Given the description of an element on the screen output the (x, y) to click on. 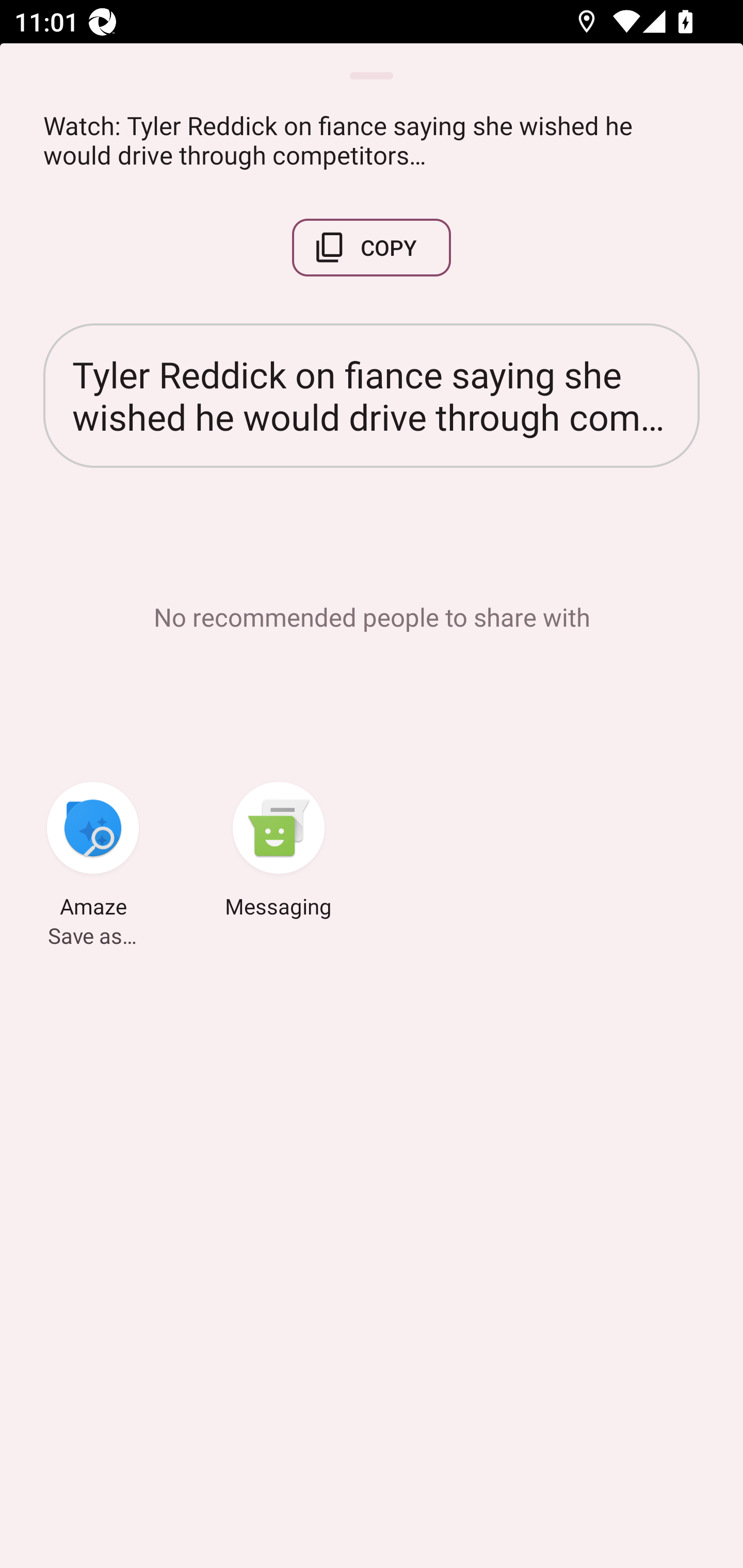
COPY (371, 247)
Amaze Save as… (92, 852)
Messaging (278, 852)
